Given the description of an element on the screen output the (x, y) to click on. 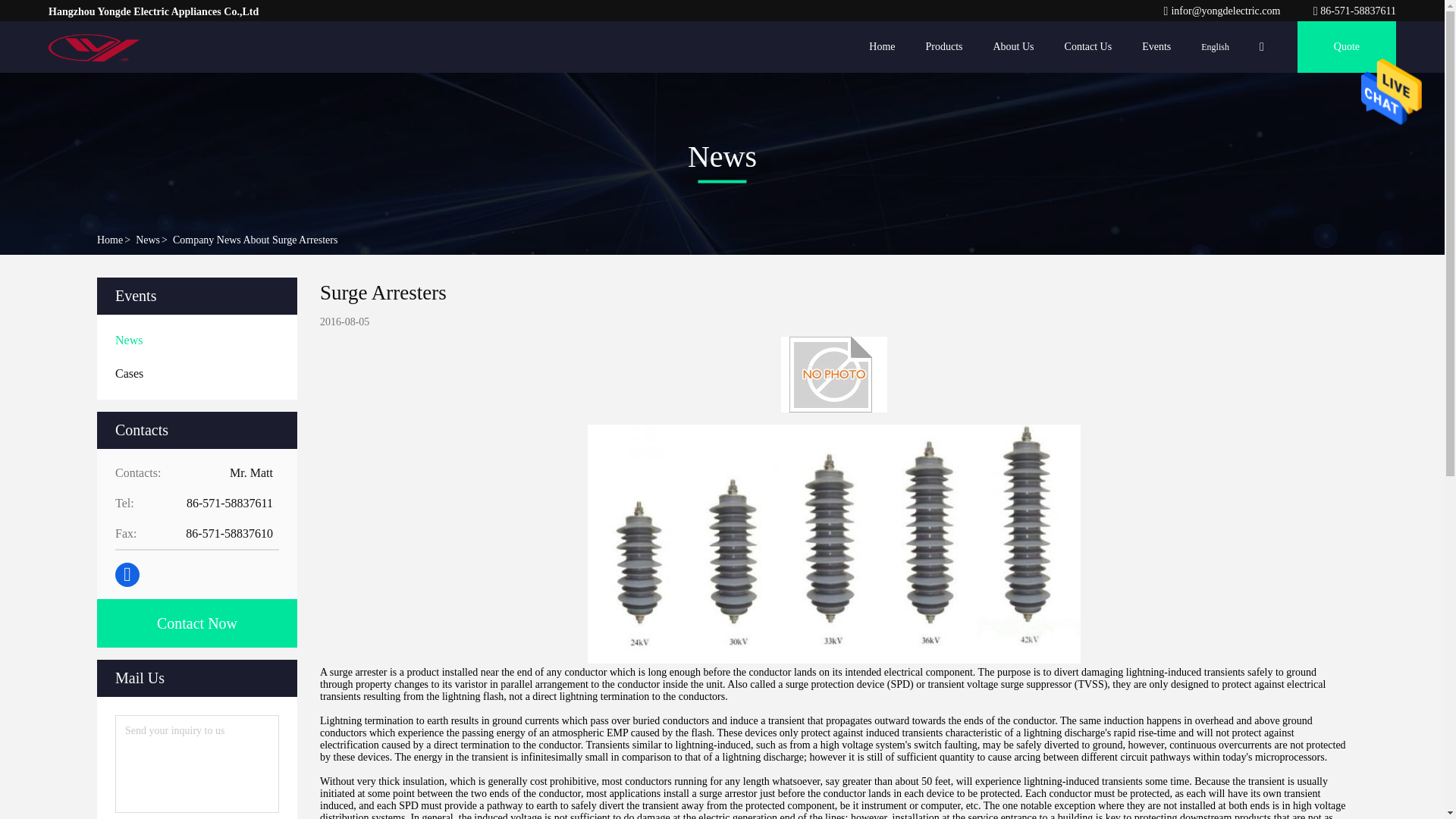
86-571-58837611 (1354, 10)
Hangzhou Yongde Electric Appliances Co.,Ltd (96, 46)
Hangzhou Yongde Electric Appliances Co.,Ltd (1222, 10)
Contact Us (1088, 46)
Hangzhou Yongde Electric Appliances Co.,Ltd (1354, 10)
